Given the description of an element on the screen output the (x, y) to click on. 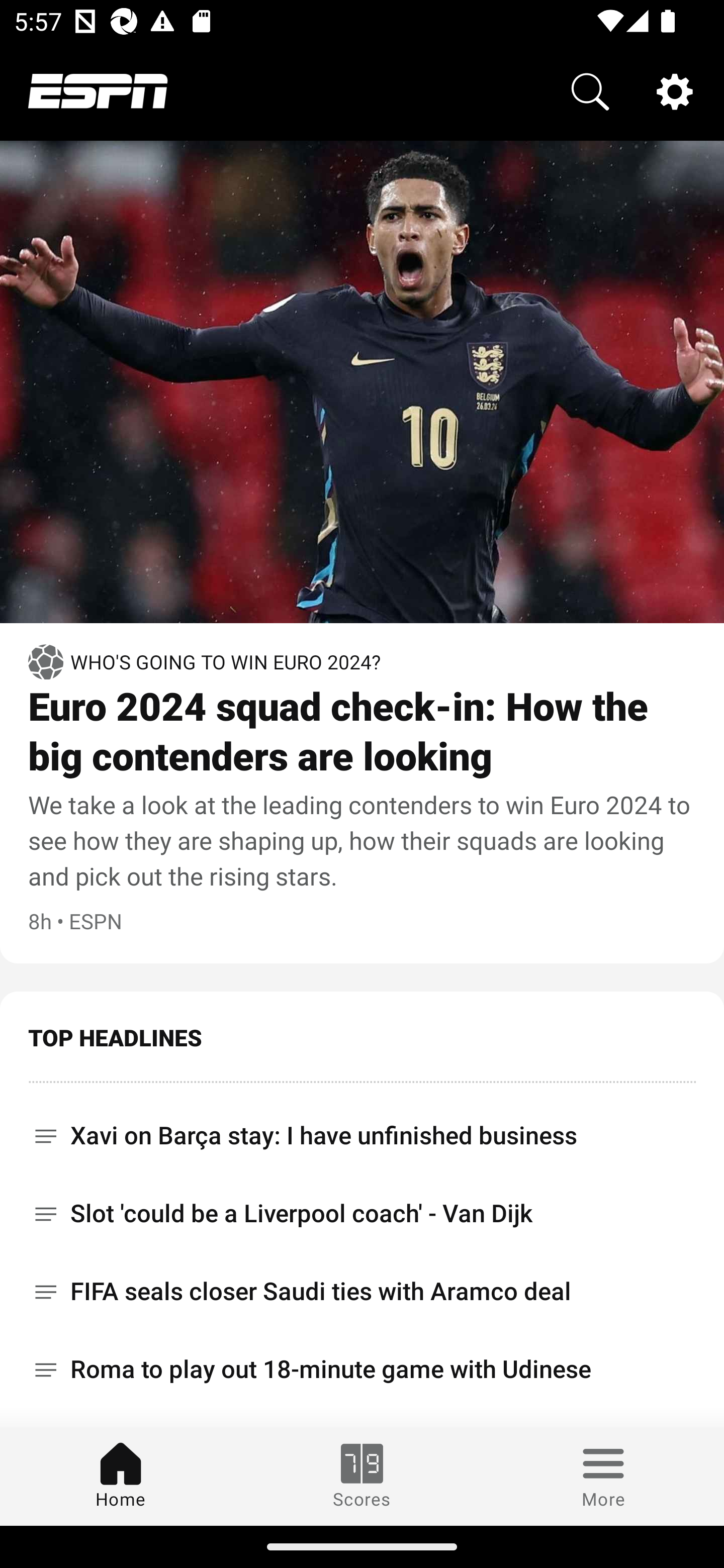
Search (590, 90)
Settings (674, 90)
 Xavi on Barça stay: I have unfinished business (362, 1128)
 Slot 'could be a Liverpool coach' - Van Dijk (362, 1213)
 FIFA seals closer Saudi ties with Aramco deal (362, 1291)
 Roma to play out 18-minute game with Udinese (362, 1369)
Scores (361, 1475)
More (603, 1475)
